Given the description of an element on the screen output the (x, y) to click on. 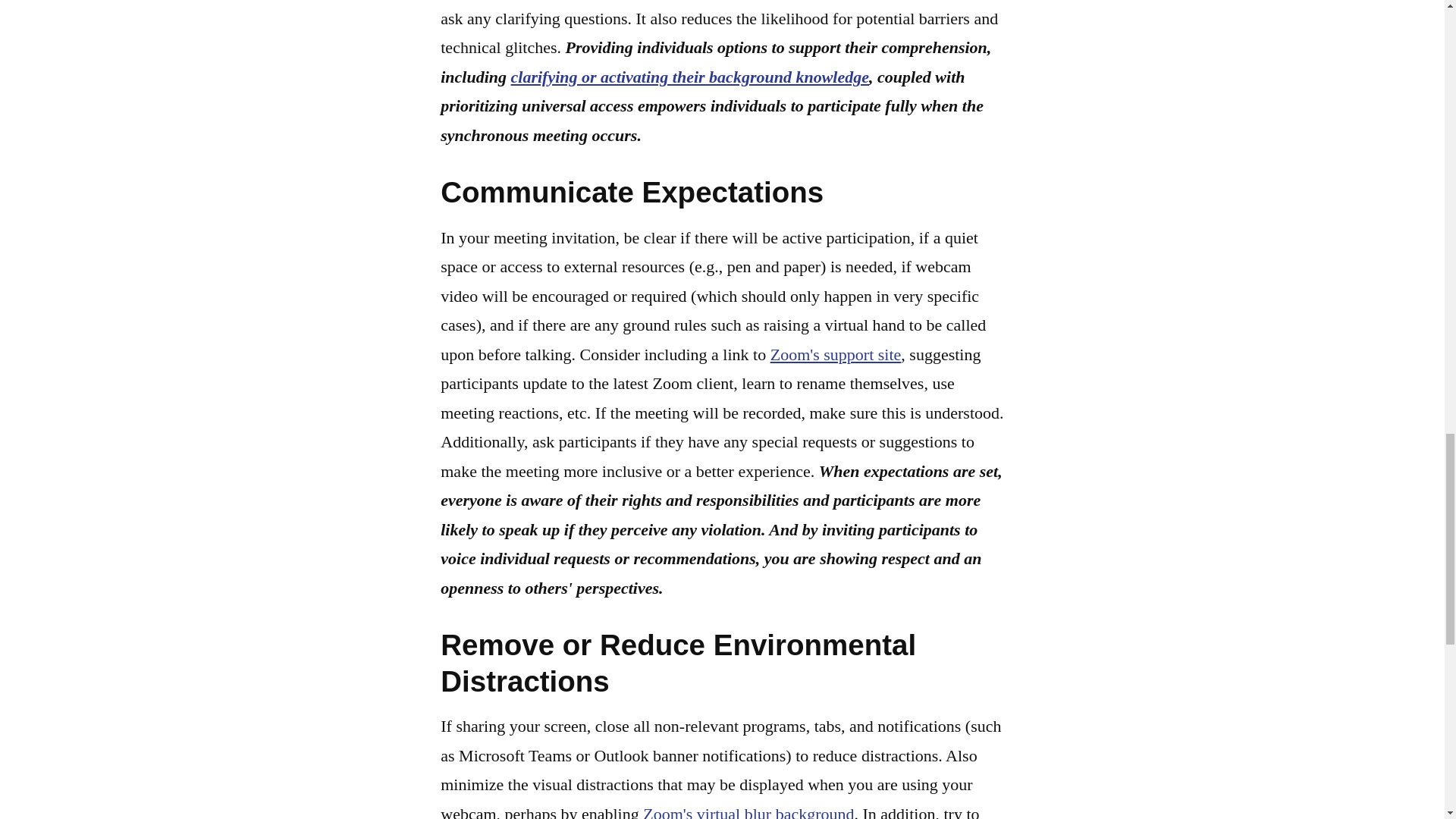
Zoom's support site (835, 353)
clarifying or activating their background knowledge (690, 76)
Zoom's virtual blur background (748, 811)
